Given the description of an element on the screen output the (x, y) to click on. 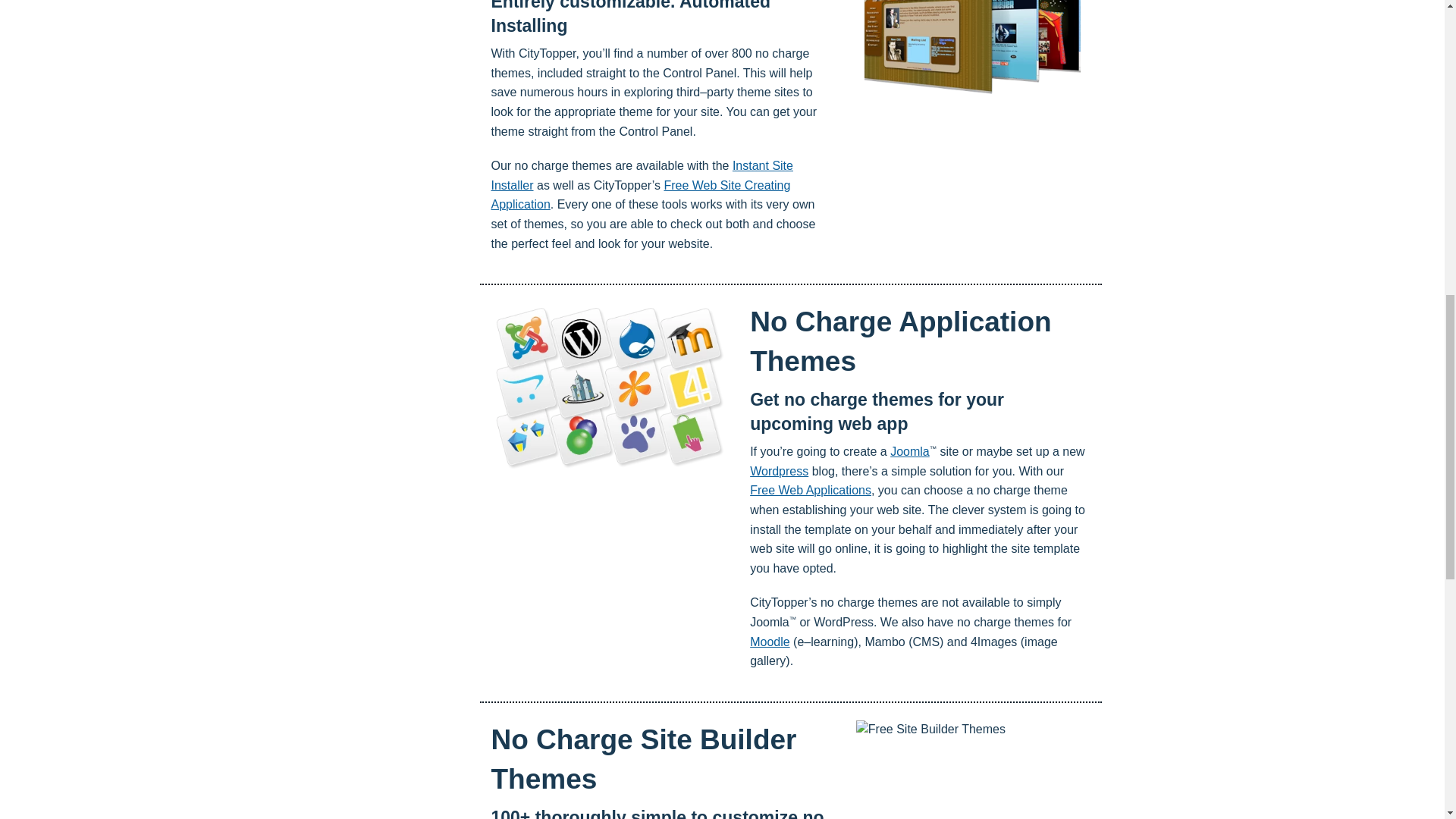
Instant Site Installer (642, 174)
Free Web Applications (809, 490)
Joomla (909, 451)
Moodle (769, 641)
Wordpress (778, 471)
Joomla (909, 451)
Free Web Site Creating Application (641, 195)
Wordpress (778, 471)
Free Website Themes (971, 59)
Instant Site Installer (642, 174)
Free App Themes (610, 389)
Free Site Builder Themes (971, 768)
Free Web Site Creating Application (641, 195)
Free Web Applications (809, 490)
Moodle (769, 641)
